Given the description of an element on the screen output the (x, y) to click on. 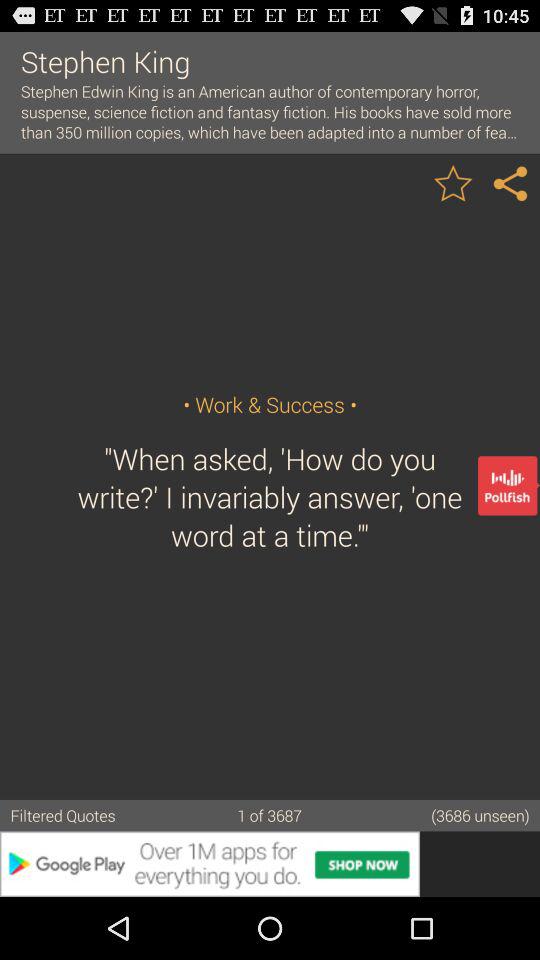
advertisement (270, 864)
